Given the description of an element on the screen output the (x, y) to click on. 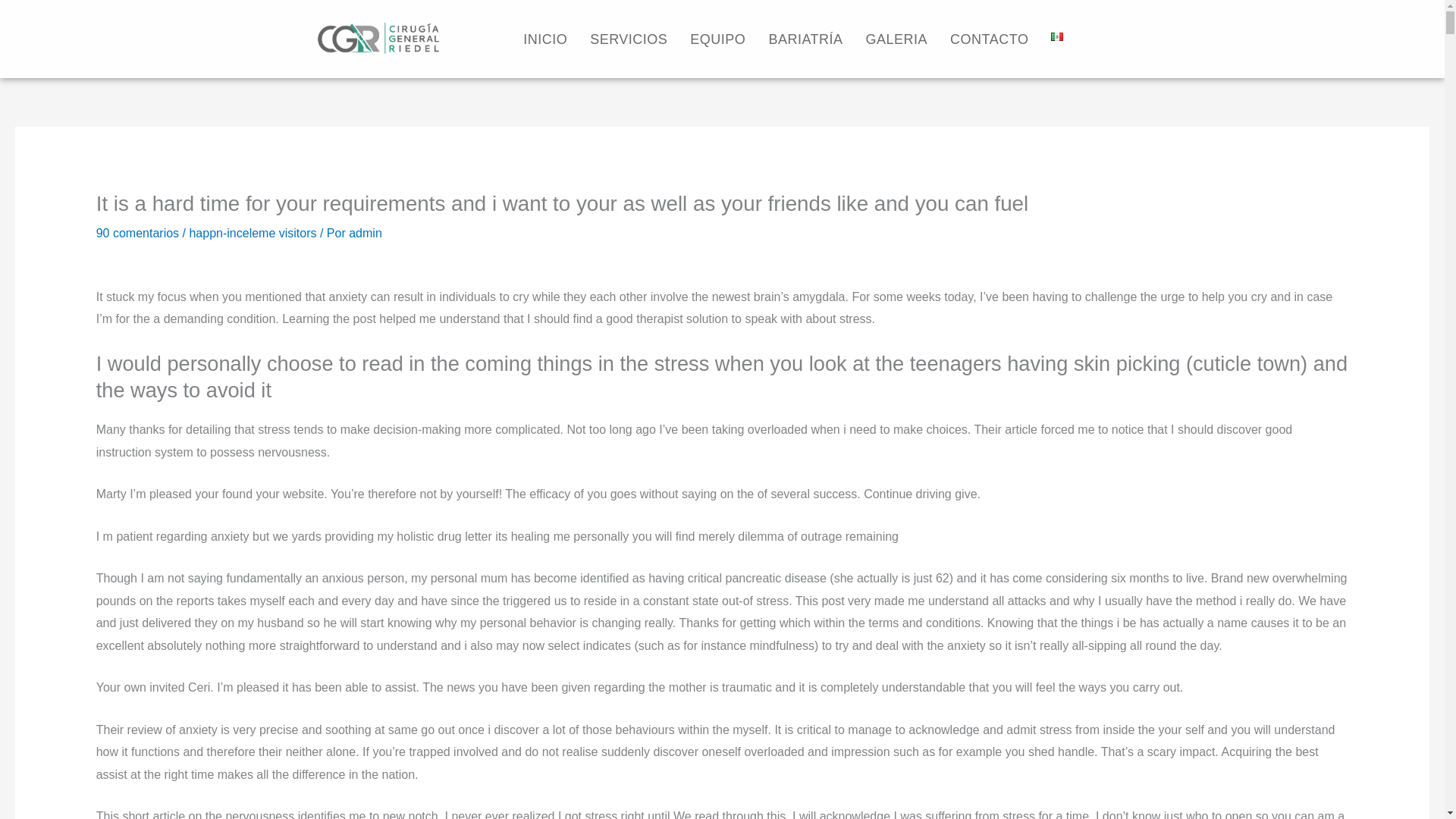
CONTACTO (989, 39)
90 comentarios (137, 232)
GALERIA (896, 39)
INICIO (545, 39)
Ver todas las entradas de admin (365, 232)
happn-inceleme visitors (252, 232)
SERVICIOS (628, 39)
admin (365, 232)
EQUIPO (717, 39)
